Given the description of an element on the screen output the (x, y) to click on. 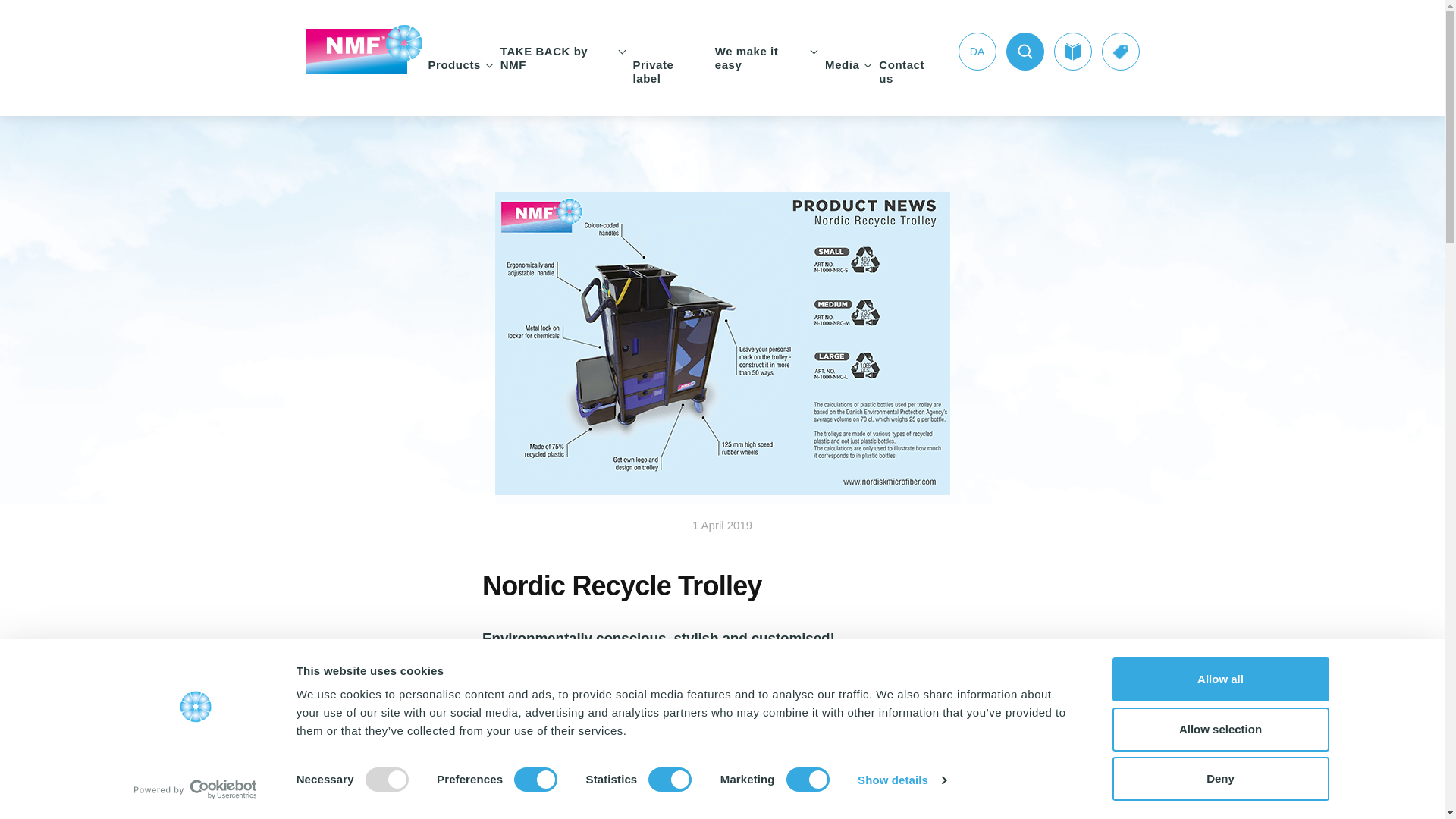
Allow all (1219, 679)
Din katalogsamling (1073, 51)
Show details (900, 780)
Allow selection (1219, 728)
Deny (1219, 778)
